Given the description of an element on the screen output the (x, y) to click on. 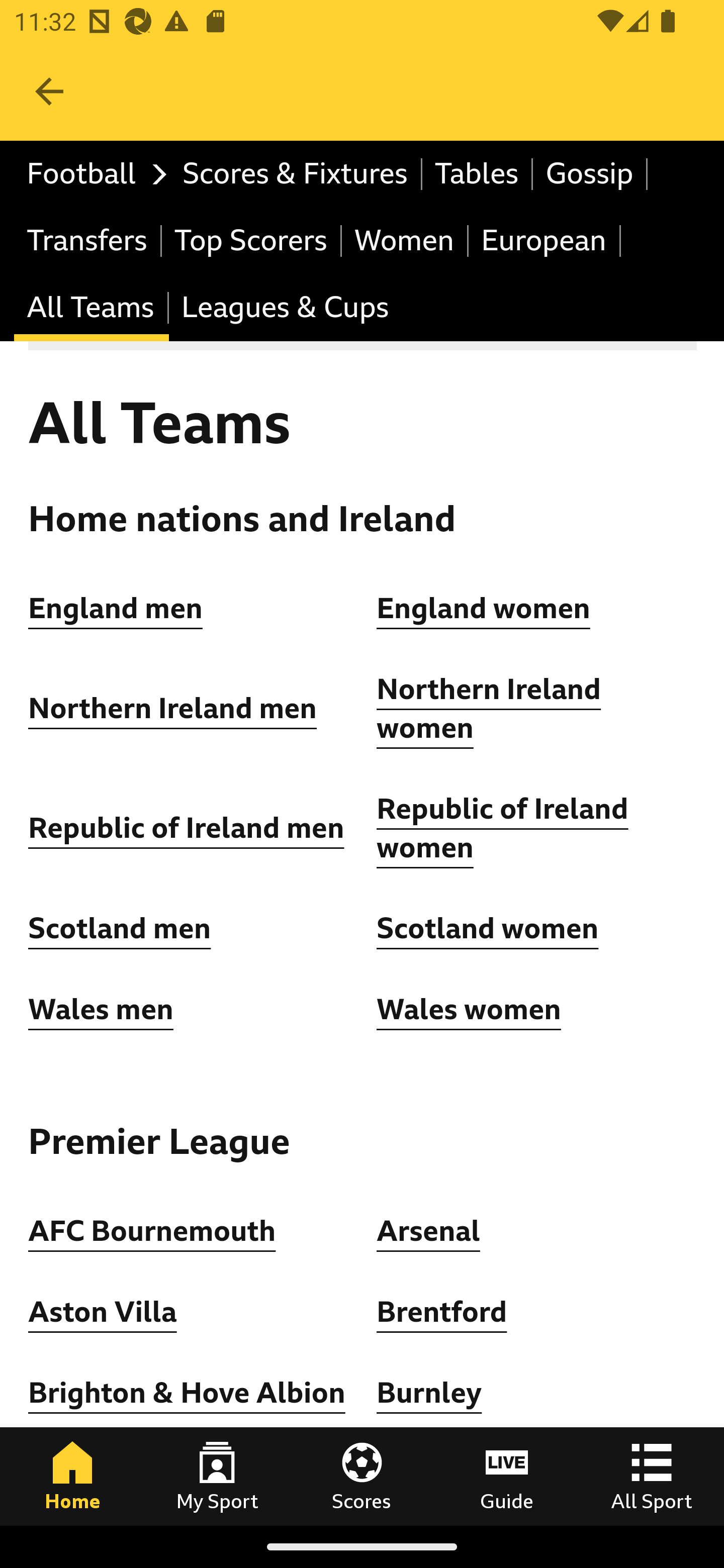
Navigate up (49, 91)
Football (91, 173)
Scores & Fixtures (295, 173)
Tables (477, 173)
Gossip (590, 173)
Transfers (88, 240)
Top Scorers (251, 240)
Women (405, 240)
European (544, 240)
All Teams (91, 308)
Leagues & Cups (284, 308)
England men (116, 608)
England women (483, 608)
Northern Ireland women (488, 709)
Northern Ireland men (173, 708)
Republic of Ireland women (502, 828)
Republic of Ireland men (186, 827)
Scotland men (120, 929)
Scotland women (487, 929)
Wales men (100, 1009)
Wales women (468, 1009)
AFC Bournemouth (151, 1230)
Arsenal (428, 1230)
Aston Villa (102, 1312)
Brentford (442, 1312)
Brighton & Hove Albion (187, 1393)
Burnley (429, 1393)
My Sport (216, 1475)
Scores (361, 1475)
Guide (506, 1475)
All Sport (651, 1475)
